Given the description of an element on the screen output the (x, y) to click on. 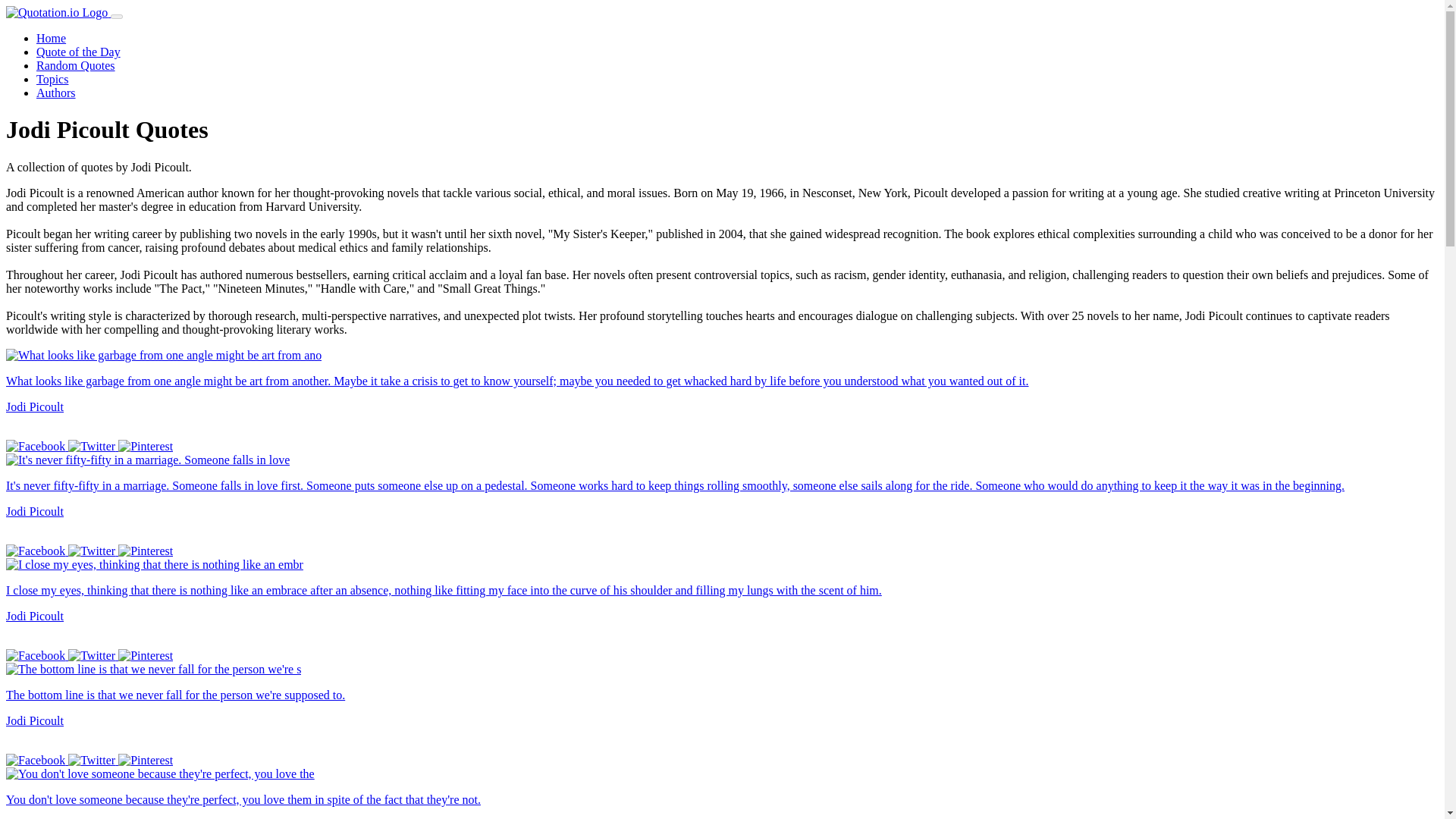
Jodi Picoult (34, 615)
Authors (55, 92)
Home (50, 38)
Jodi Picoult (34, 511)
Jodi Picoult (34, 720)
Quote of the Day (78, 51)
